Given the description of an element on the screen output the (x, y) to click on. 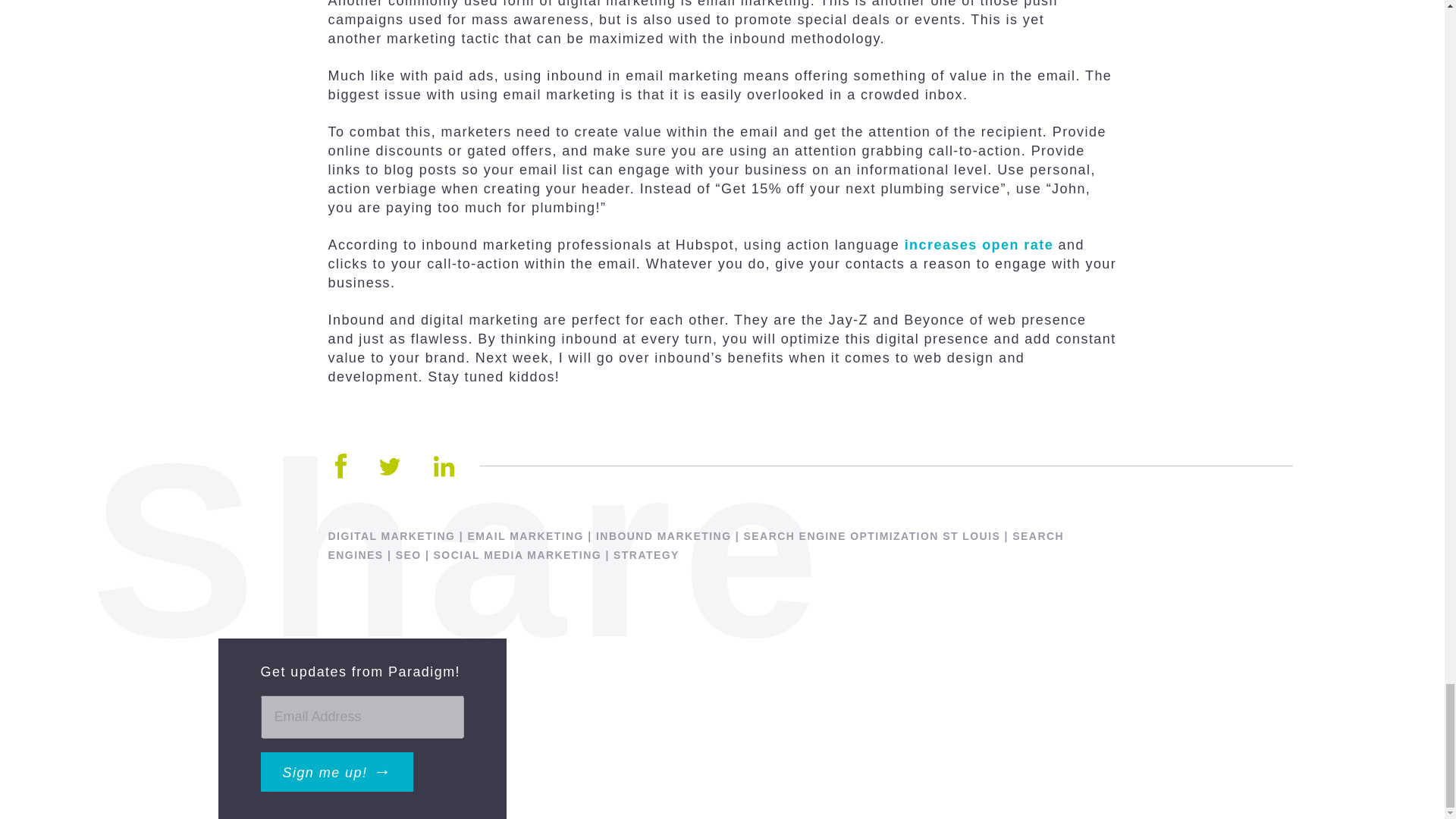
Share on Linkedin (443, 465)
Share on Linkedin (443, 465)
SEARCH ENGINES (695, 545)
increases open rate (978, 244)
Share on Twitter (389, 465)
Share on Twitter (389, 465)
Share on Twitter (389, 466)
INBOUND MARKETING (662, 535)
SEARCH ENGINE OPTIMIZATION ST LOUIS (872, 535)
Share on LinkedIn (443, 465)
